Given the description of an element on the screen output the (x, y) to click on. 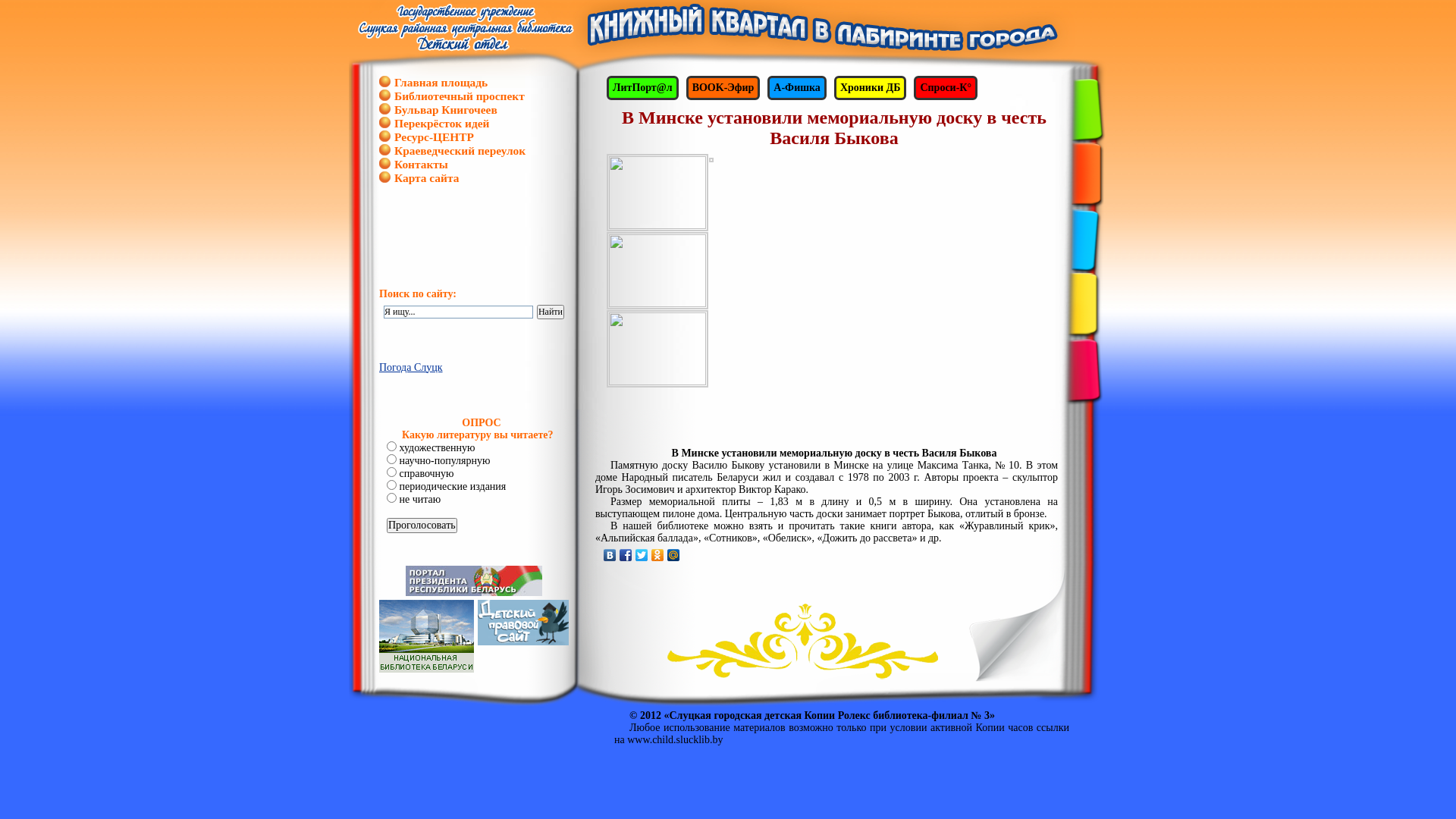
pogoda.by Element type: text (546, 423)
Twitter Element type: hover (641, 554)
Facebook Element type: hover (625, 554)
